Given the description of an element on the screen output the (x, y) to click on. 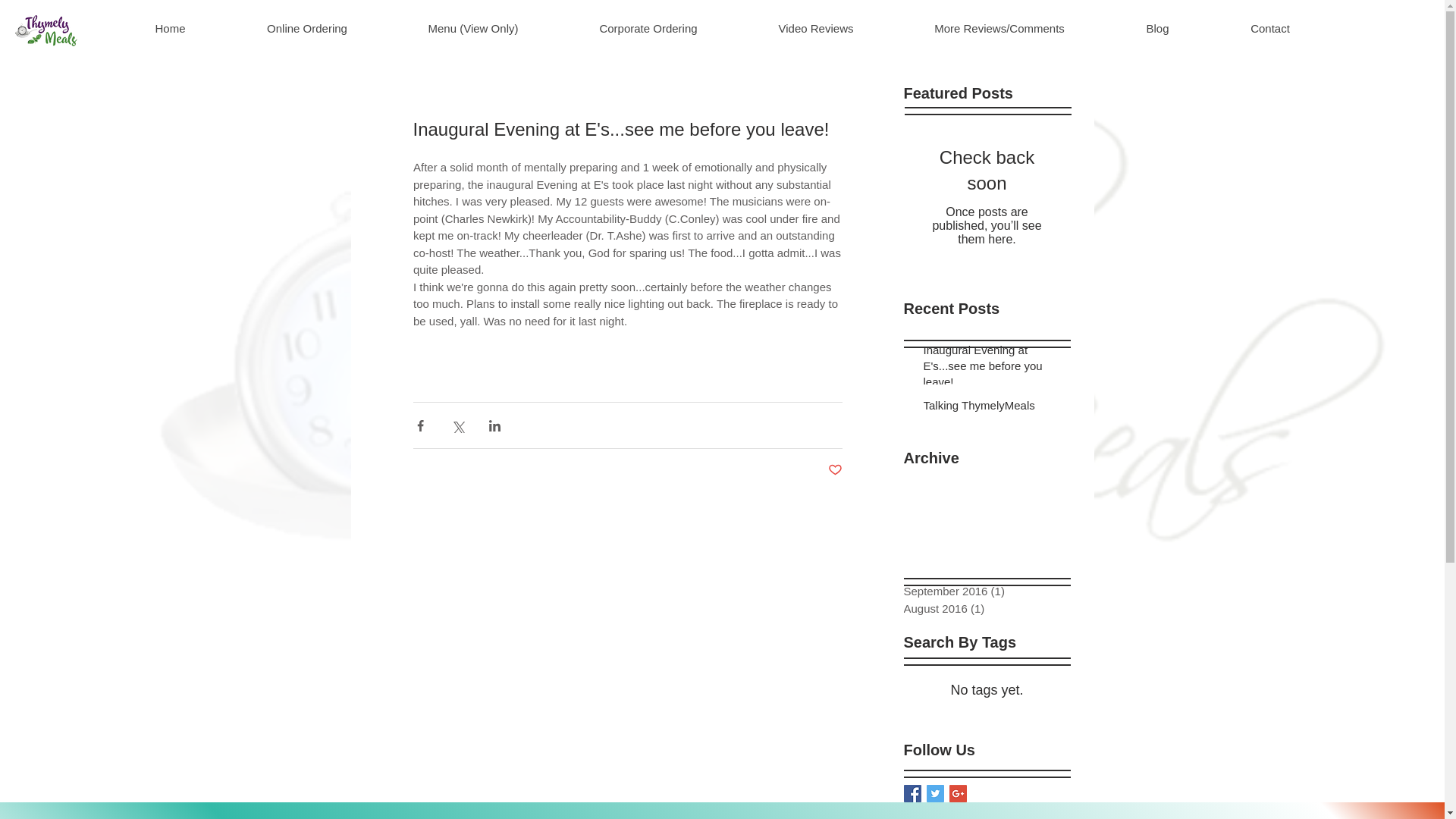
Contact (1269, 28)
Inaugural Evening at E's...see me before you leave! (992, 368)
Talking ThymelyMeals (992, 408)
Post not marked as liked (835, 470)
Blog (1157, 28)
thymely meals logo.png (45, 30)
Video Reviews (815, 28)
Online Ordering (306, 28)
Home (170, 28)
